Given the description of an element on the screen output the (x, y) to click on. 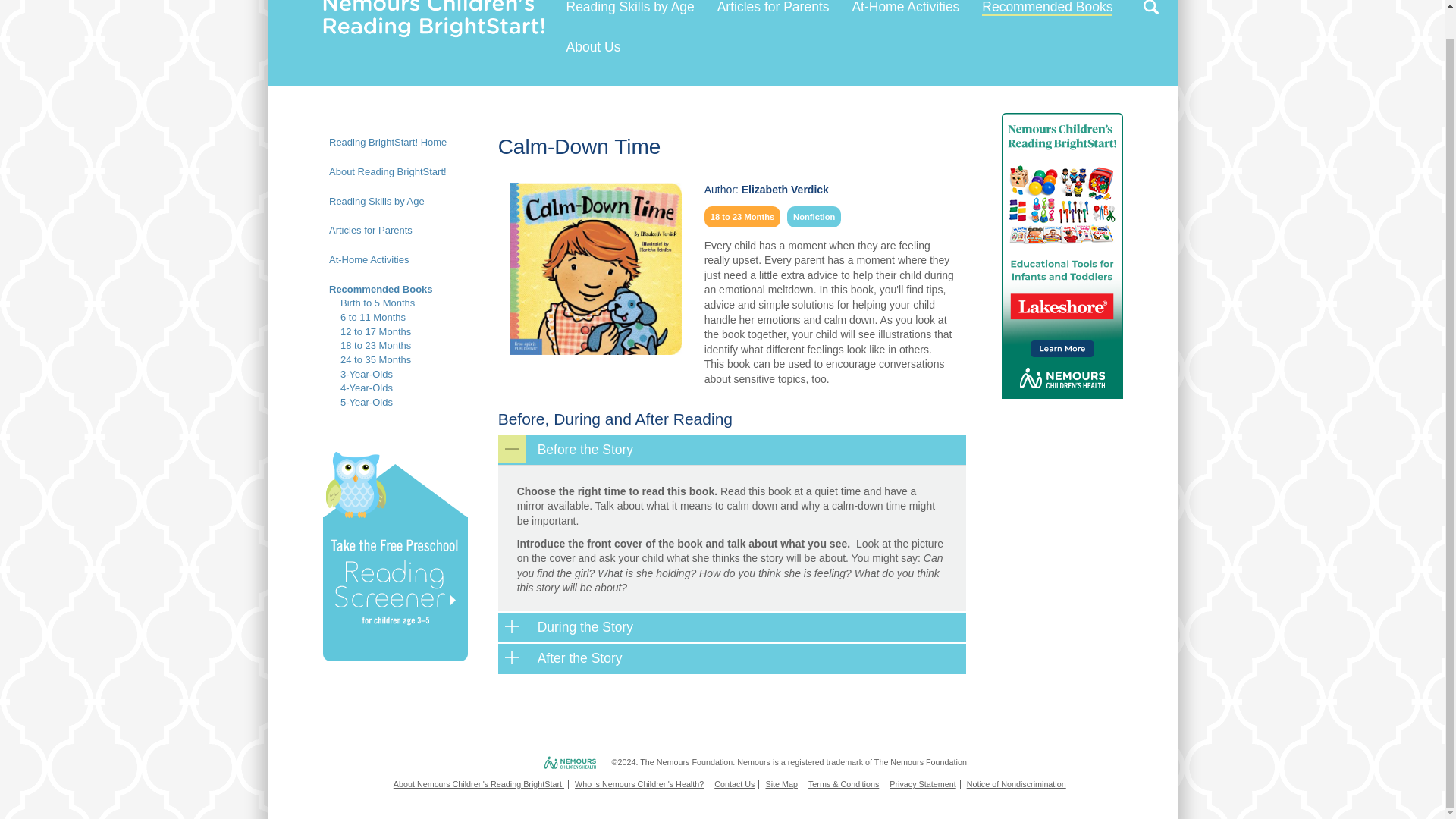
Nemours Reading BrightStart! (433, 4)
Nemours. Children's Health System (544, 762)
Articles for Parents (773, 7)
Reading Skills by Age (630, 7)
